Given the description of an element on the screen output the (x, y) to click on. 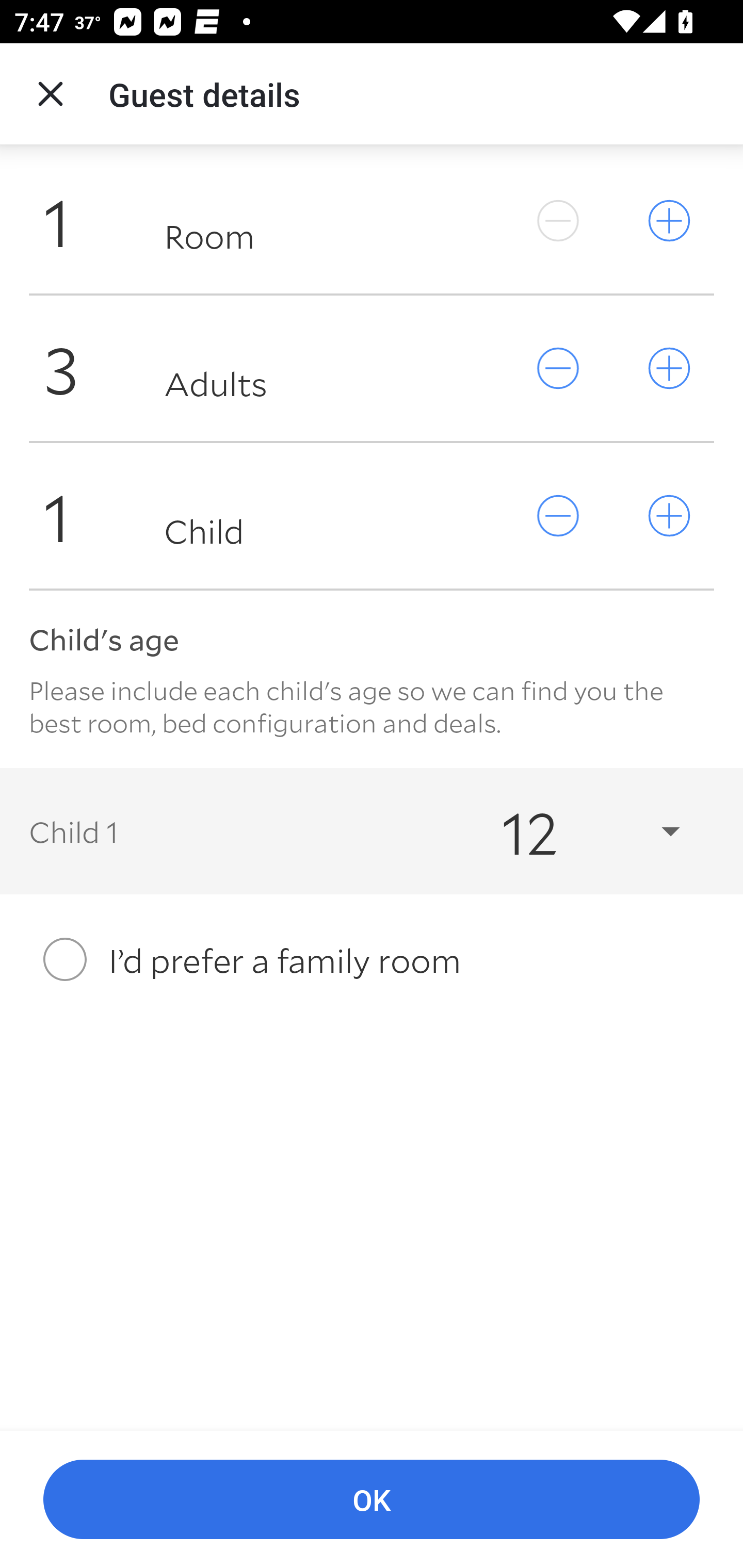
12 (573, 830)
I’d prefer a family room (371, 959)
OK (371, 1499)
